Given the description of an element on the screen output the (x, y) to click on. 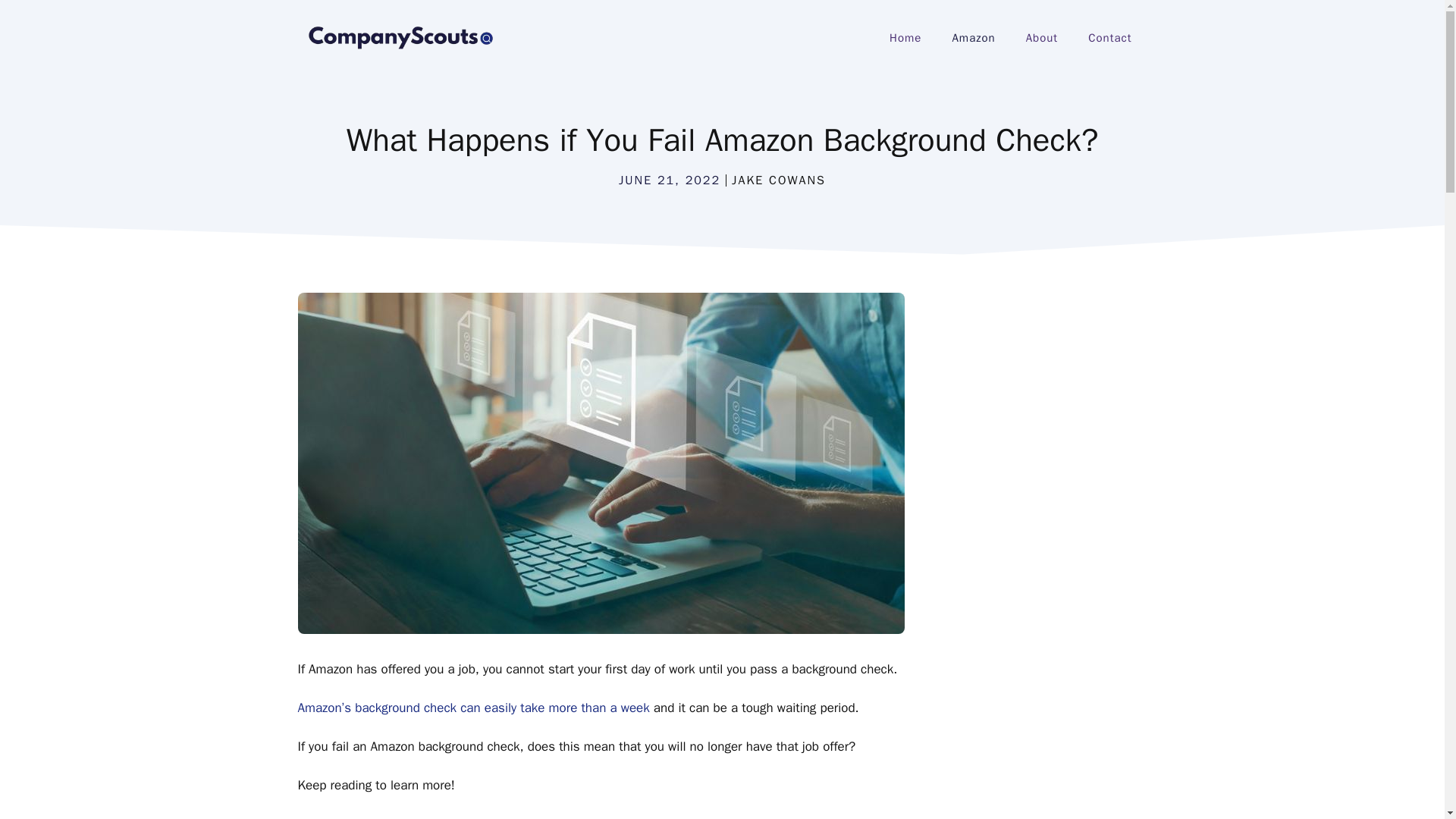
Amazon (973, 37)
About (1041, 37)
JAKE COWANS (778, 180)
Contact (1110, 37)
Home (905, 37)
